Given the description of an element on the screen output the (x, y) to click on. 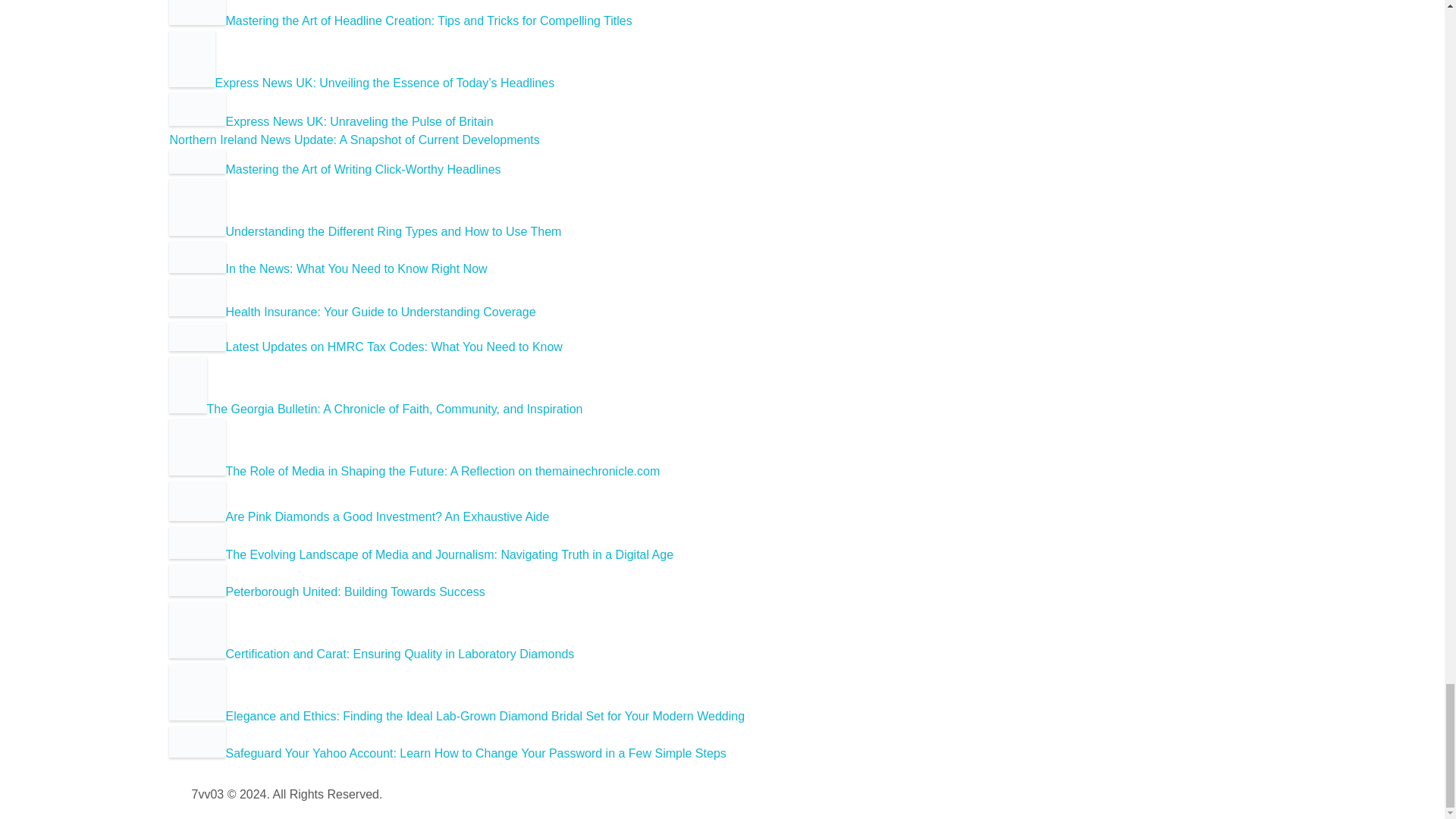
are pink diamonds a good investment (196, 500)
